Given the description of an element on the screen output the (x, y) to click on. 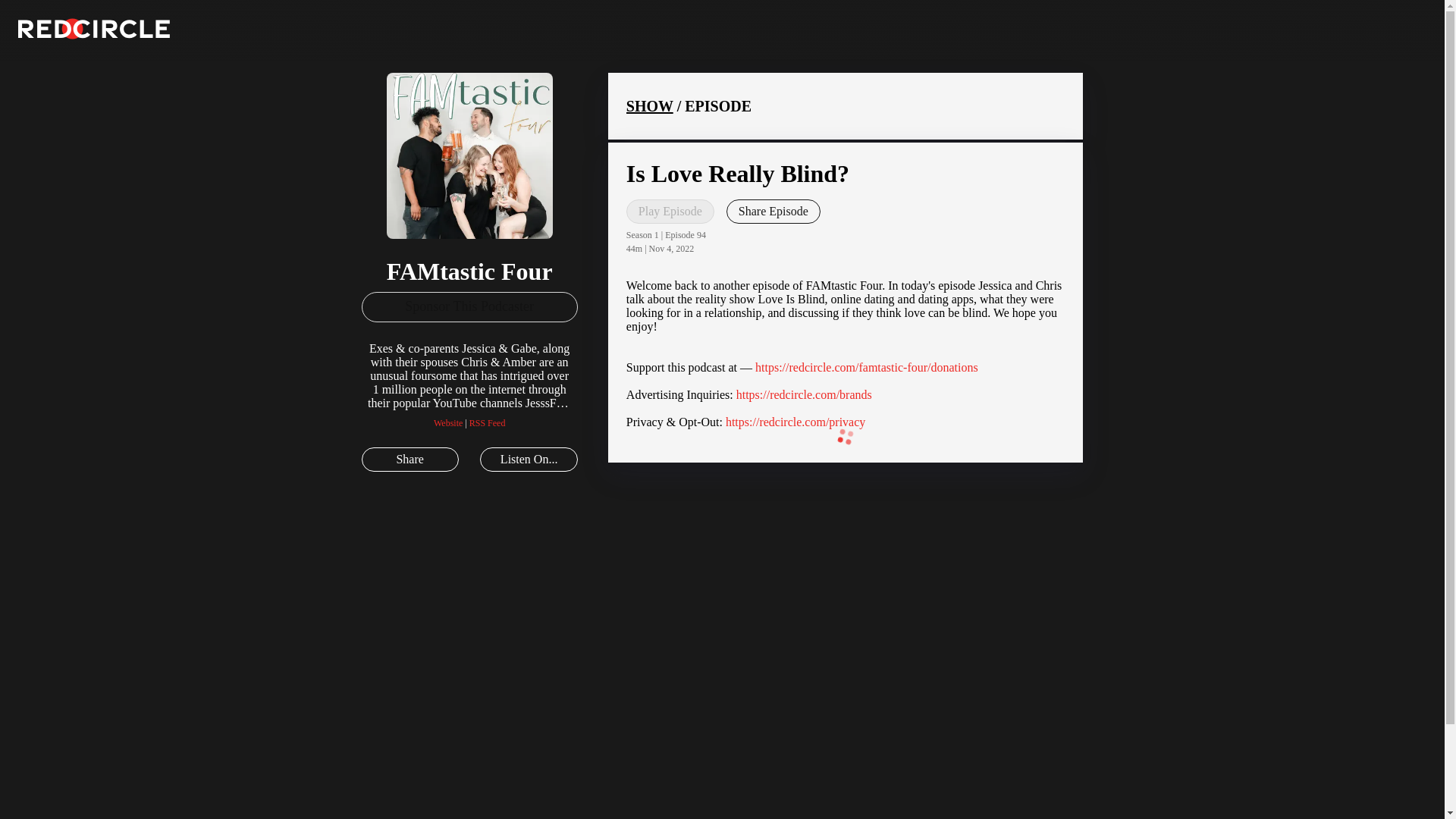
Share (409, 459)
Website (448, 422)
Listen On... (528, 459)
RSS Feed (486, 422)
SHOW (649, 105)
Share Episode (773, 211)
Sponsor This Podcaster (468, 306)
Play Episode (670, 211)
